Given the description of an element on the screen output the (x, y) to click on. 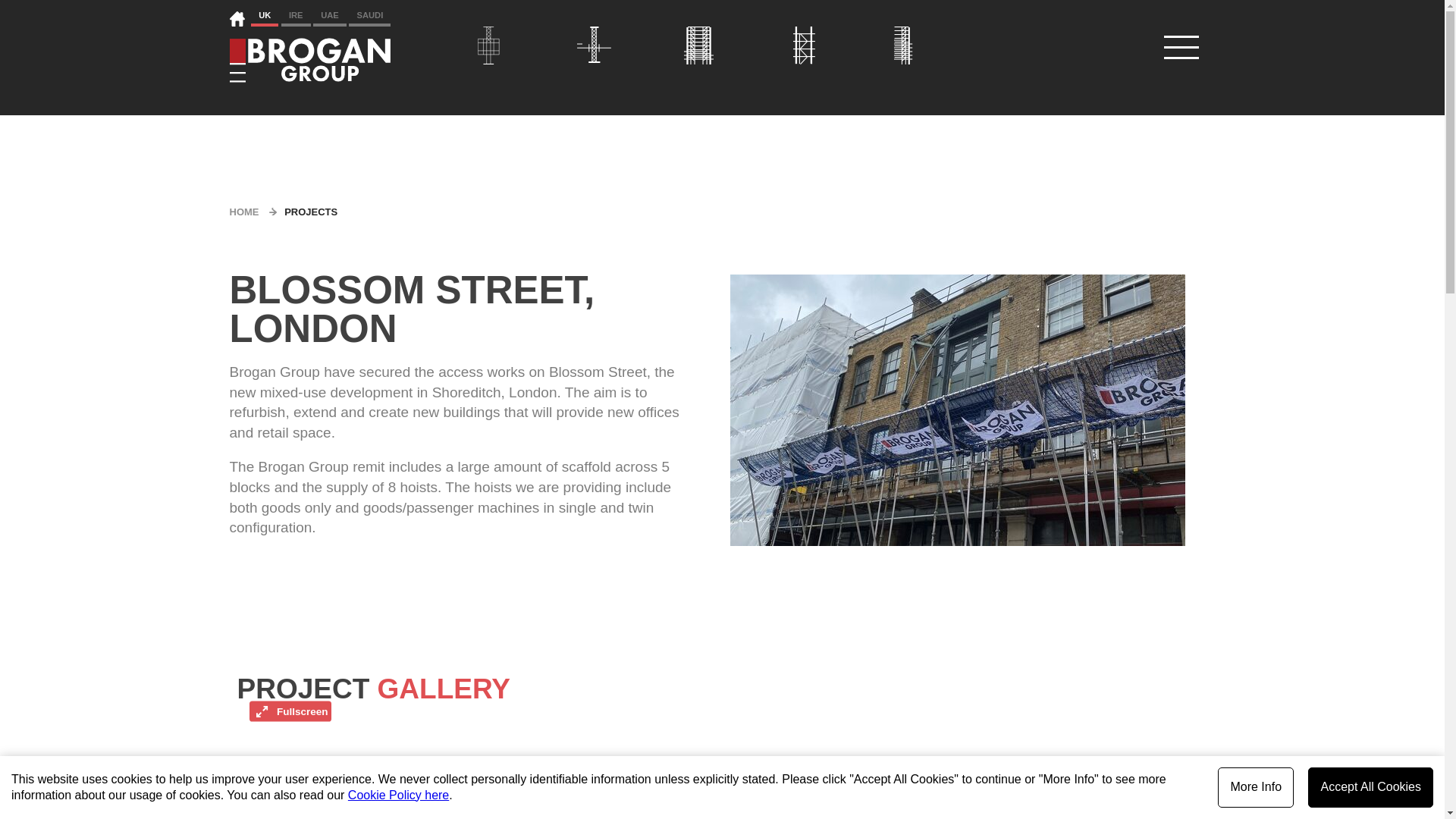
Brogan Group Logo (309, 68)
Cookie Policy (397, 794)
background Home (236, 18)
